Given the description of an element on the screen output the (x, y) to click on. 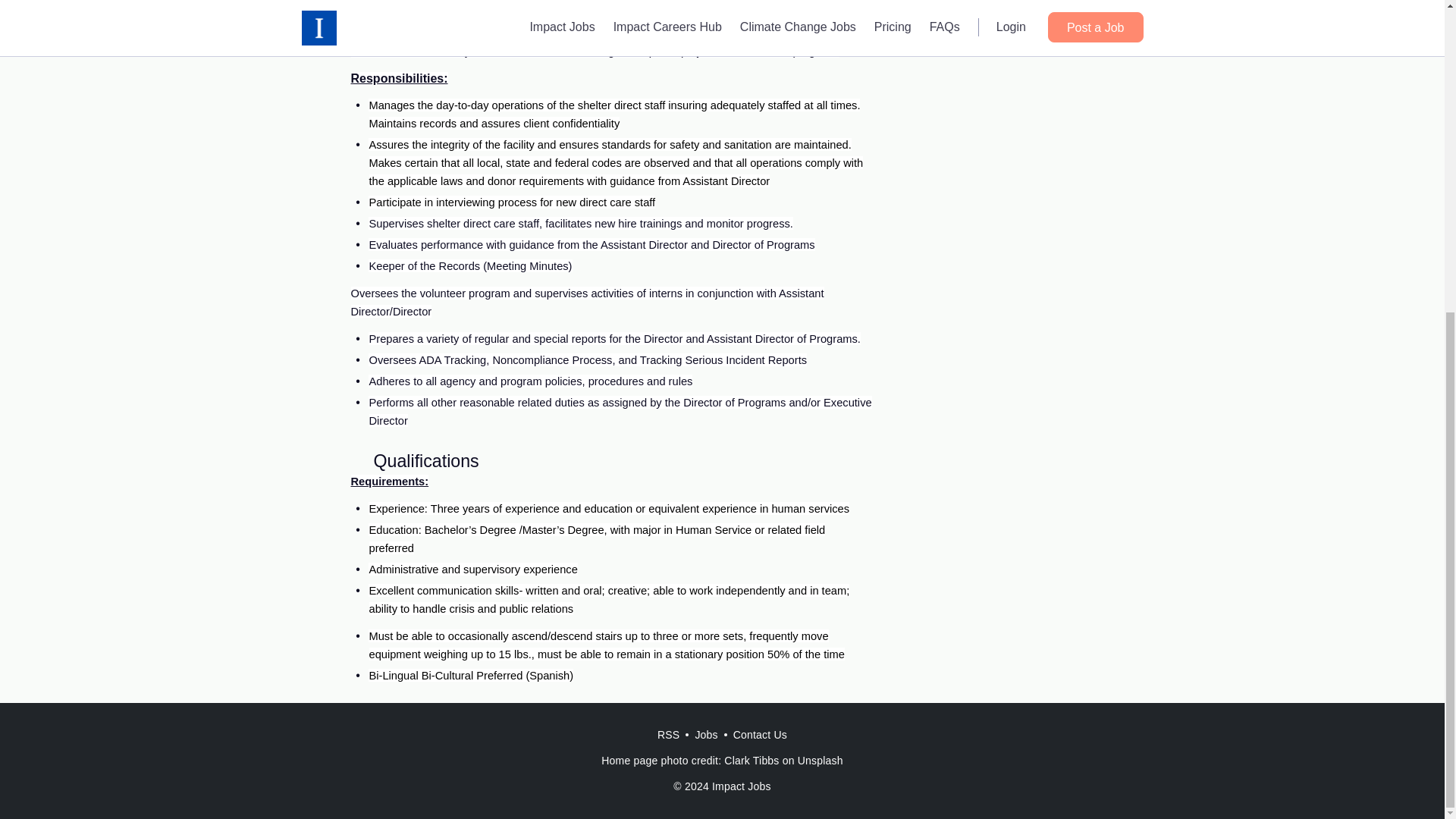
Clark Tibbs (750, 760)
RSS (668, 734)
Contact Us (759, 734)
Jobs (706, 734)
Unsplash (820, 760)
